Given the description of an element on the screen output the (x, y) to click on. 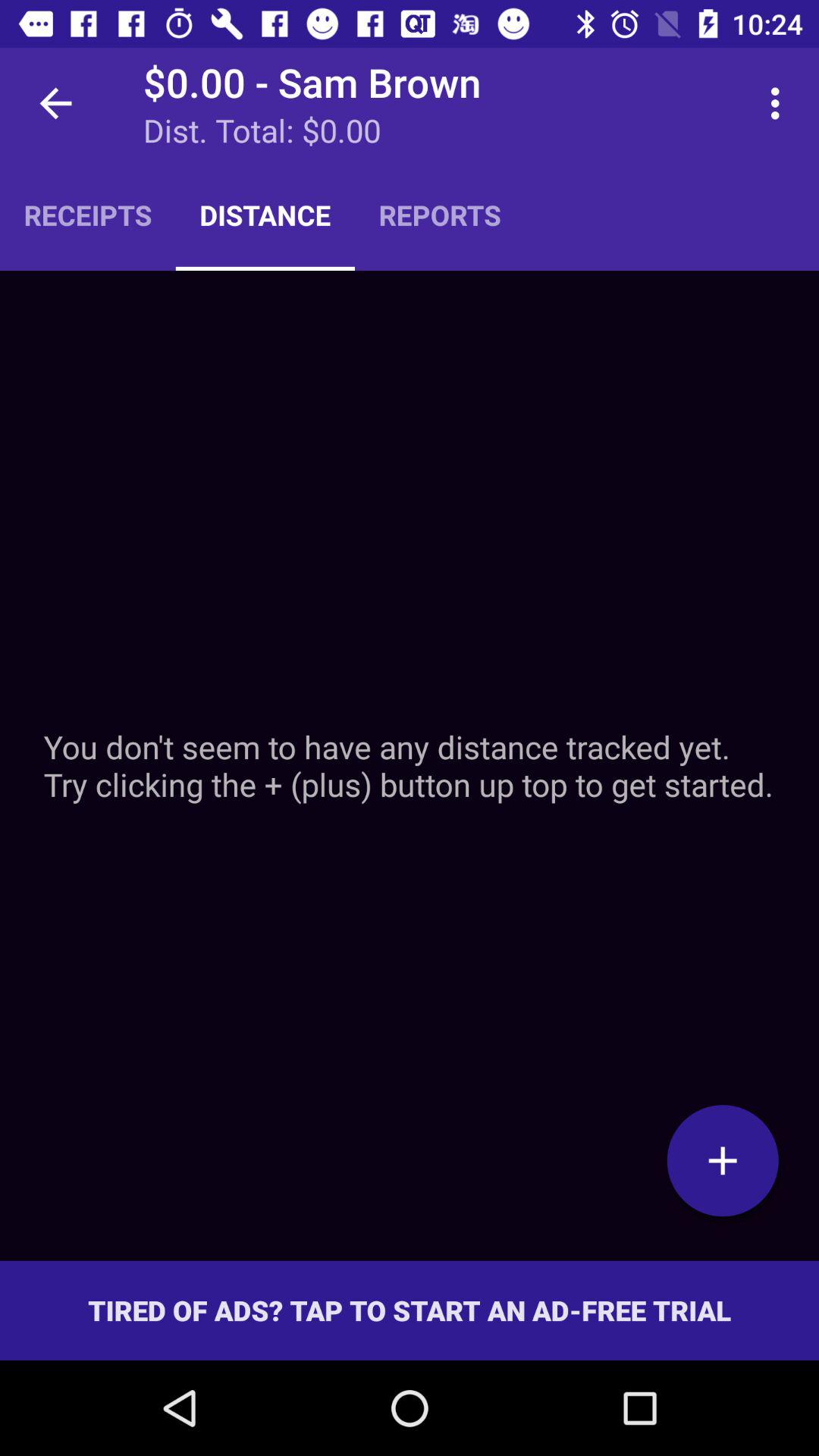
click item above receipts icon (55, 103)
